Given the description of an element on the screen output the (x, y) to click on. 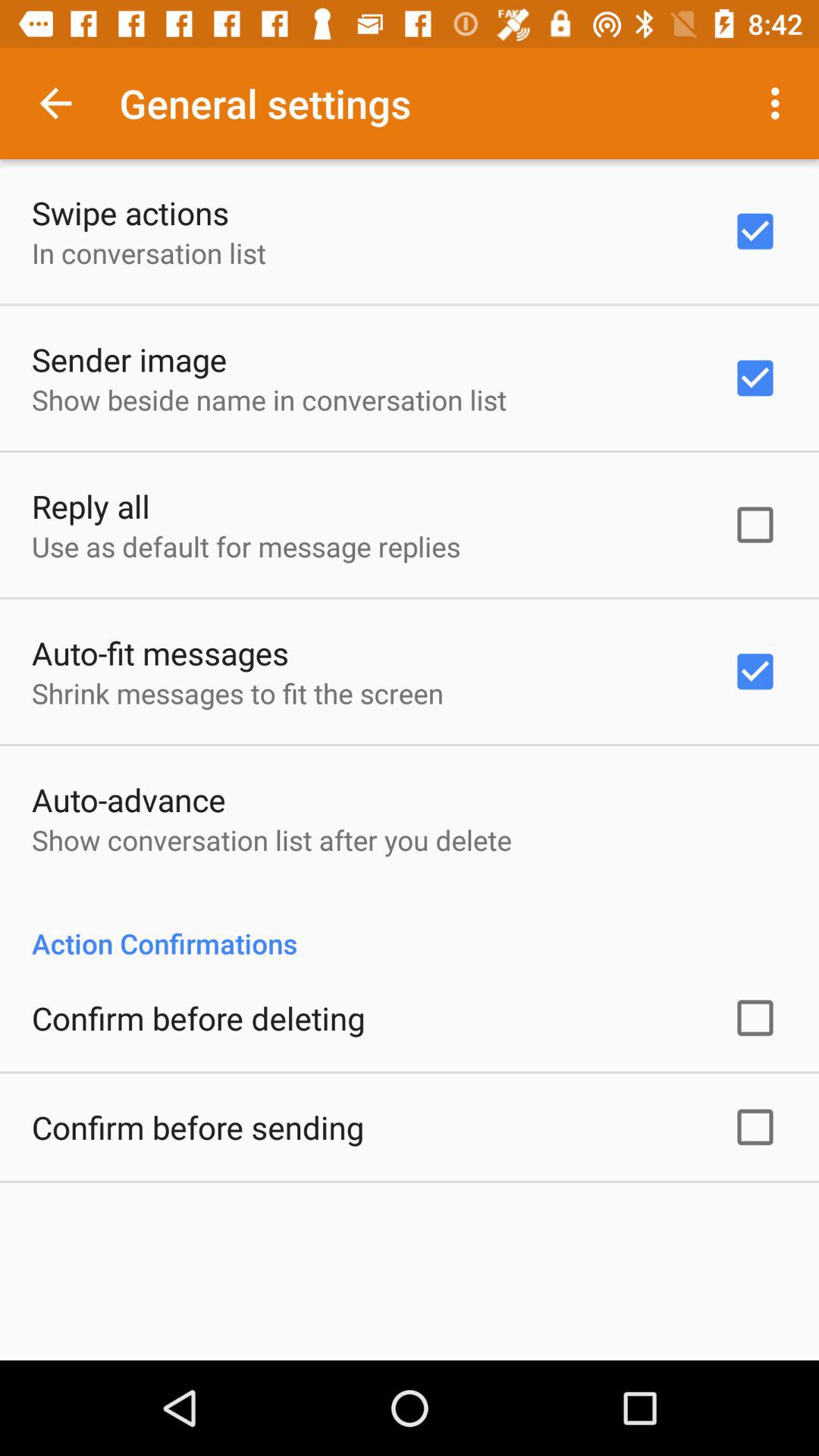
launch app next to the general settings (779, 103)
